Given the description of an element on the screen output the (x, y) to click on. 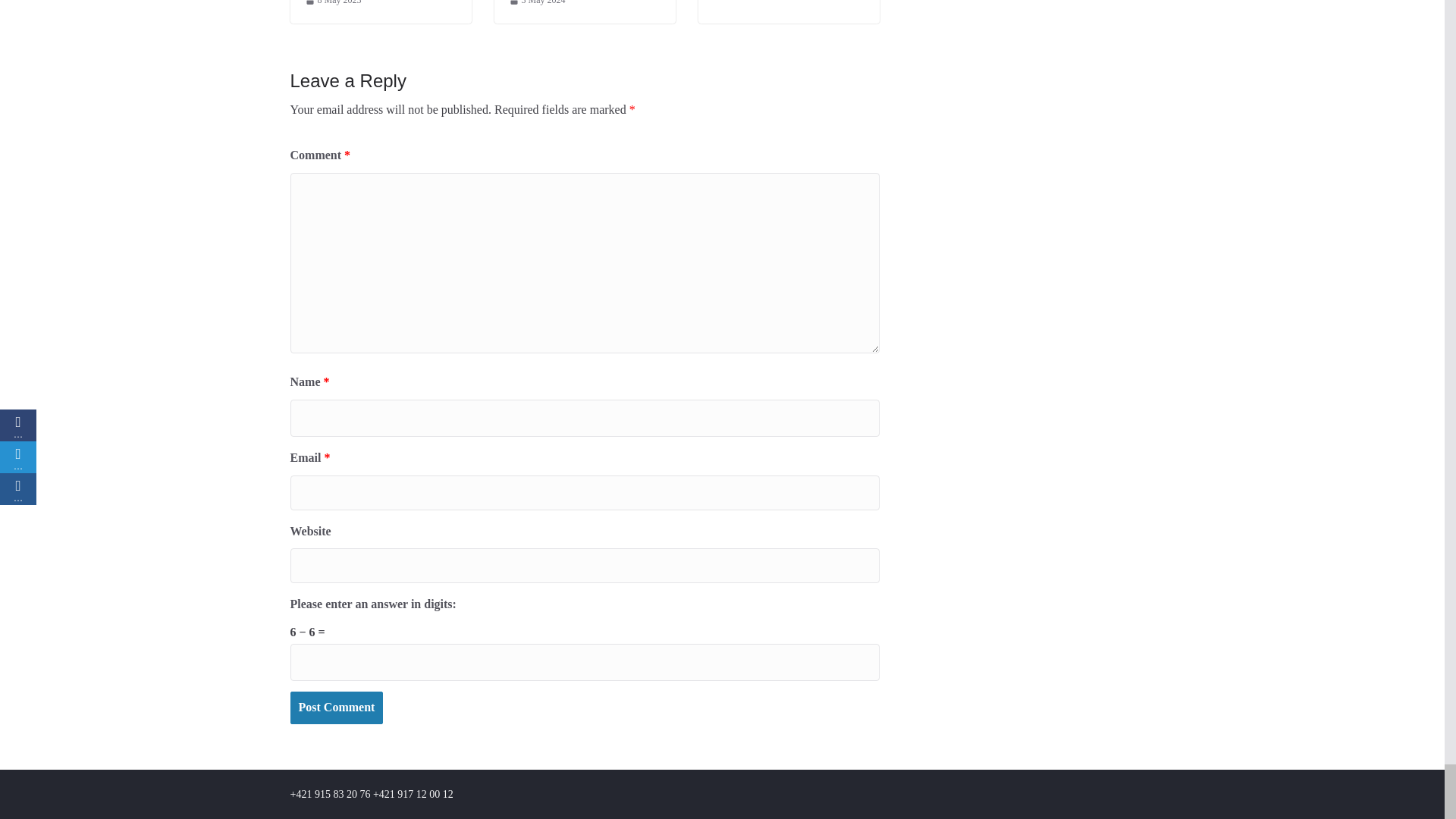
11:39 (537, 4)
Post Comment (335, 707)
8 May 2023 (332, 4)
16:38 (332, 4)
3 May 2024 (537, 4)
